Given the description of an element on the screen output the (x, y) to click on. 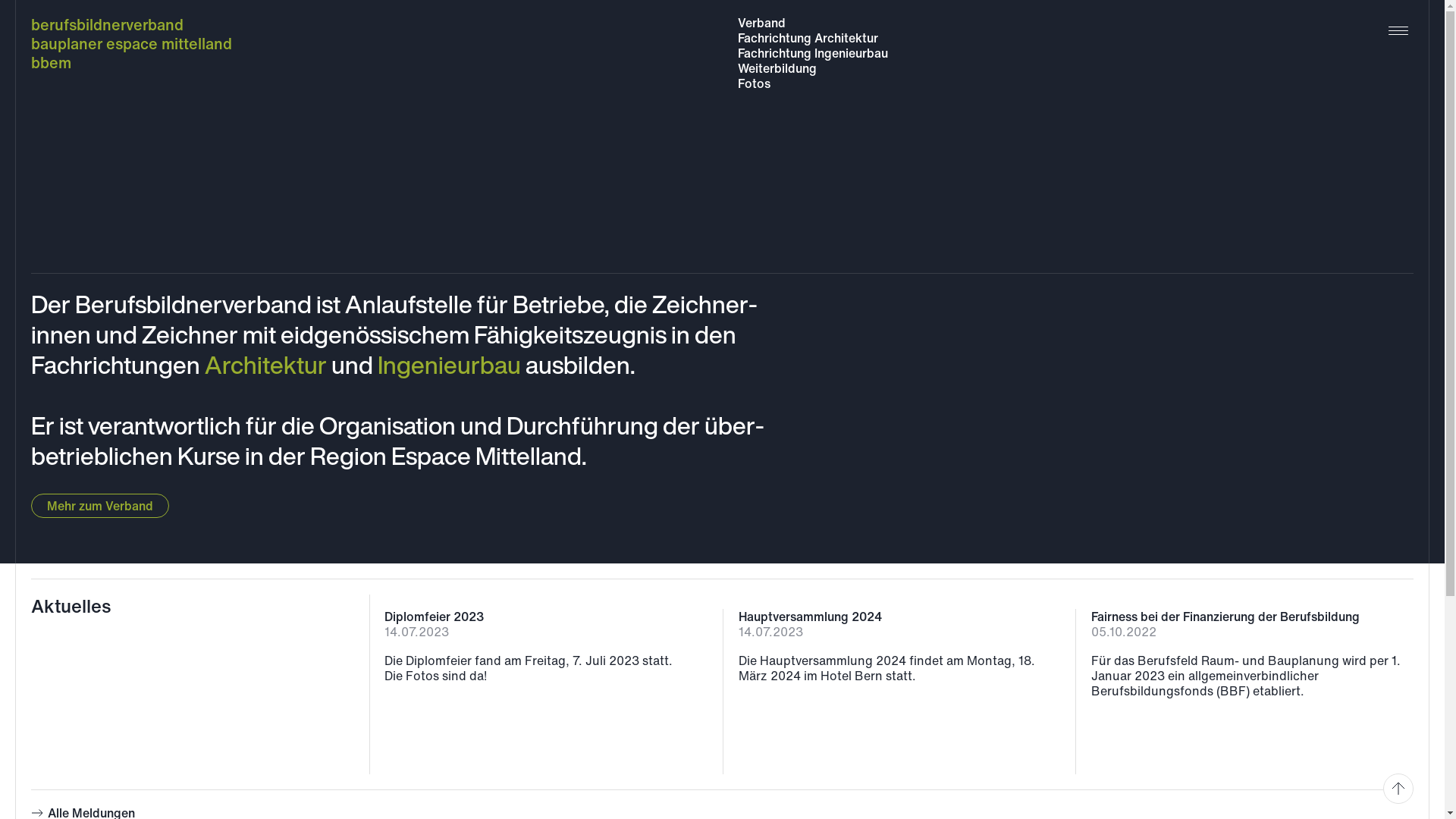
Mehr zum Verband Element type: text (100, 505)
Weiterbildung Element type: text (776, 67)
Fachrichtung Architektur Element type: text (807, 37)
Fachrichtung Ingenieurbau Element type: text (812, 52)
Architektur Element type: text (265, 364)
Verband Element type: text (760, 22)
berufsbildnerverband
bauplaner espace mittelland
bbem Element type: text (131, 43)
Fotos Element type: text (753, 83)
Ingenieurbau Element type: text (448, 364)
